Given the description of an element on the screen output the (x, y) to click on. 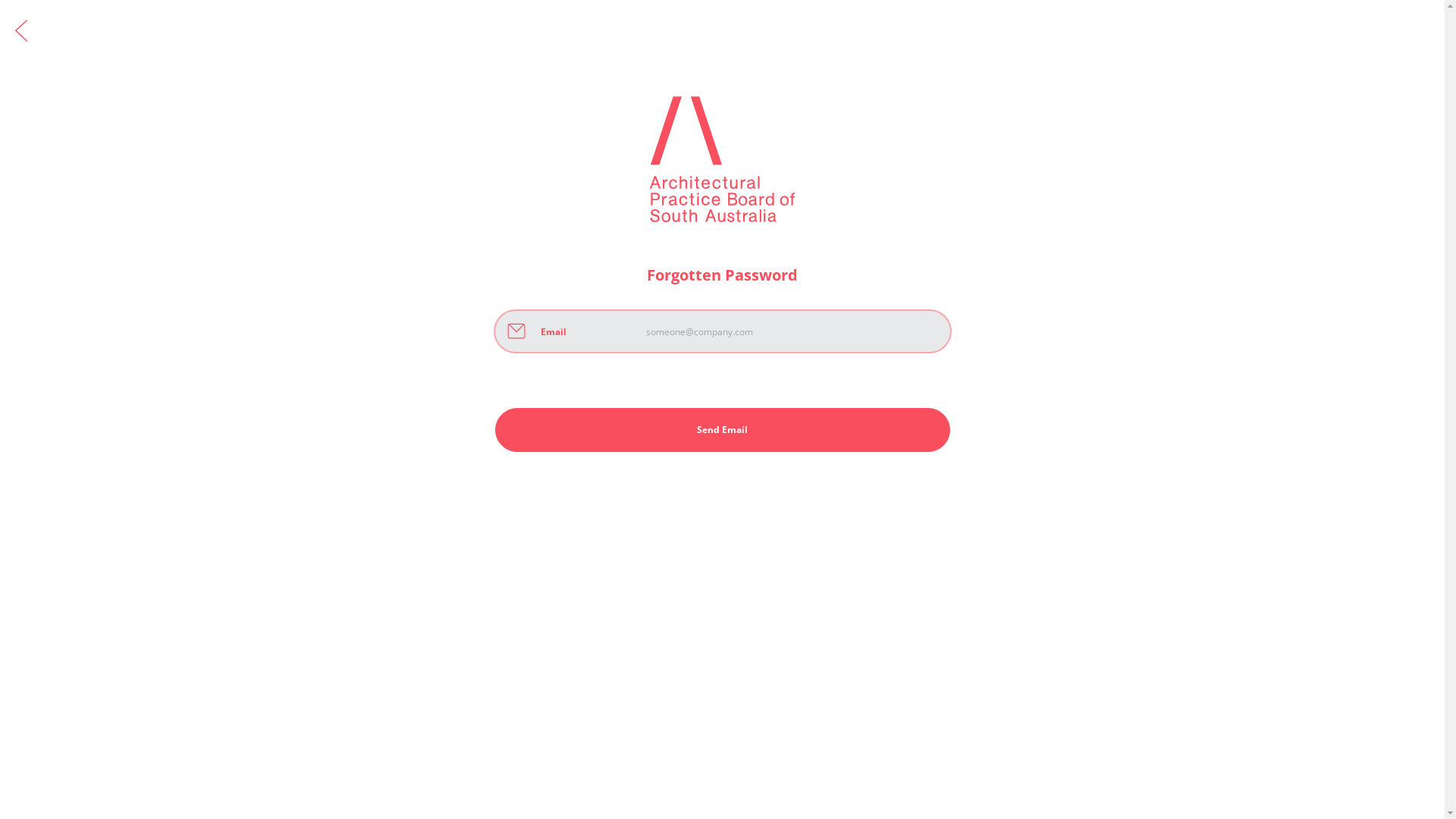
Send Email Element type: text (721, 429)
